Given the description of an element on the screen output the (x, y) to click on. 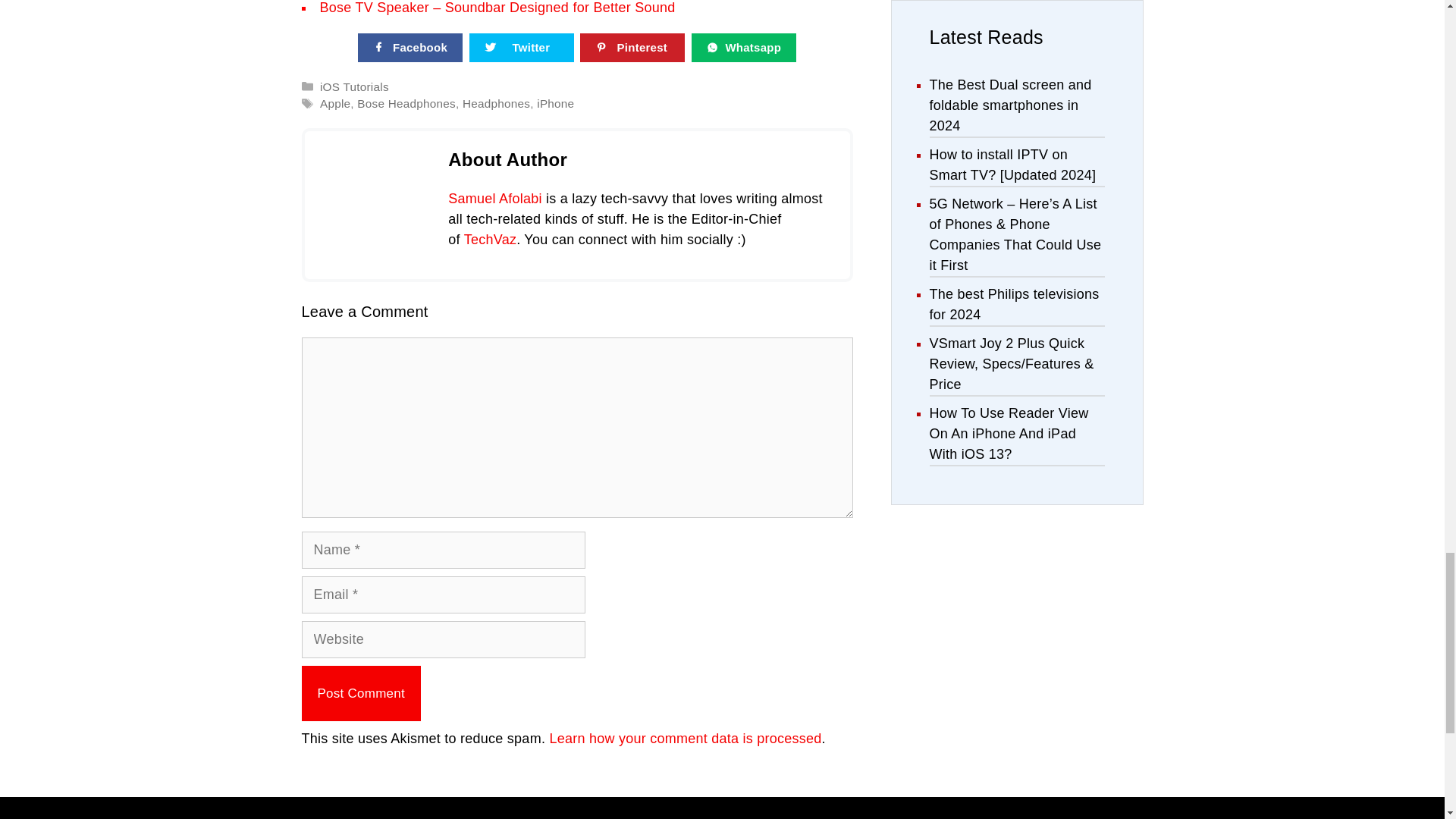
Post Comment (360, 693)
